Given the description of an element on the screen output the (x, y) to click on. 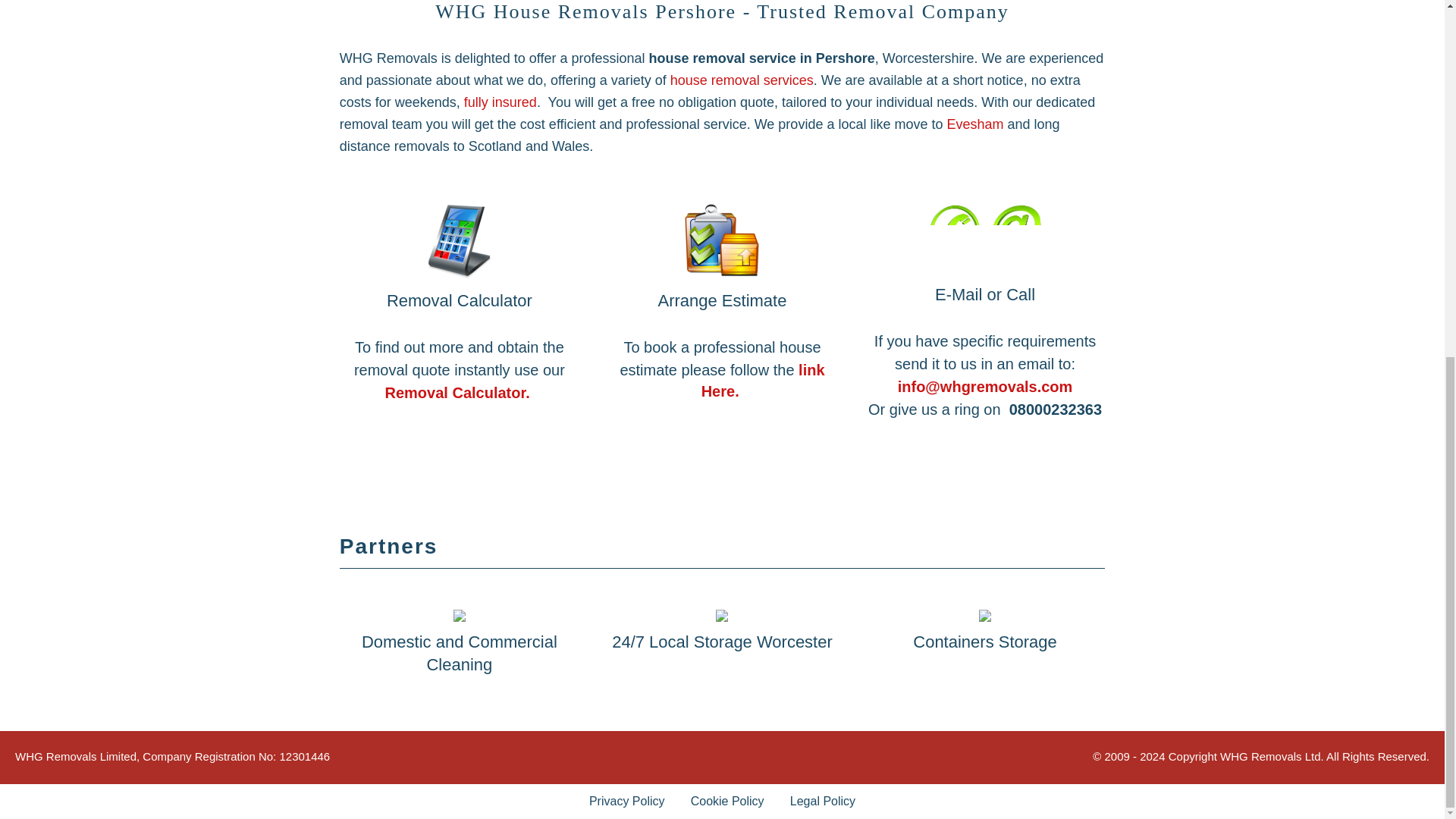
link Here. (763, 381)
house removal services (741, 79)
E-Mail or Call (984, 238)
Containers Storage (984, 615)
E-Mail or Call (984, 238)
Evesham (976, 124)
Removal Calculator (459, 241)
fully insured (500, 102)
Domestic and Commercial Cleaning (458, 615)
Removal Calculator. (457, 392)
